Given the description of an element on the screen output the (x, y) to click on. 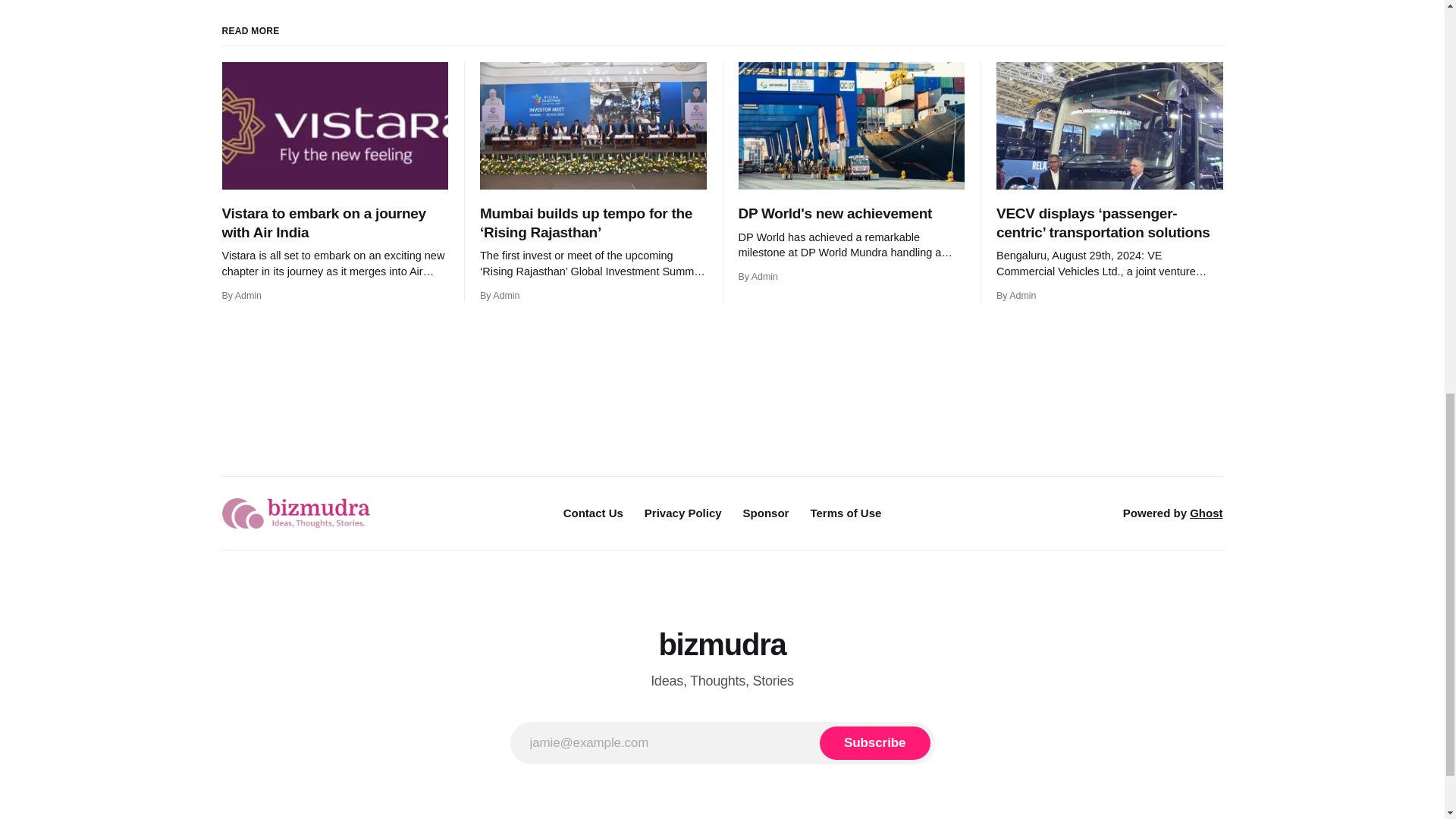
Terms of Use (844, 512)
Sponsor (765, 512)
Contact Us (593, 512)
Privacy Policy (683, 512)
Ghost (1206, 512)
Subscribe (874, 743)
